Given the description of an element on the screen output the (x, y) to click on. 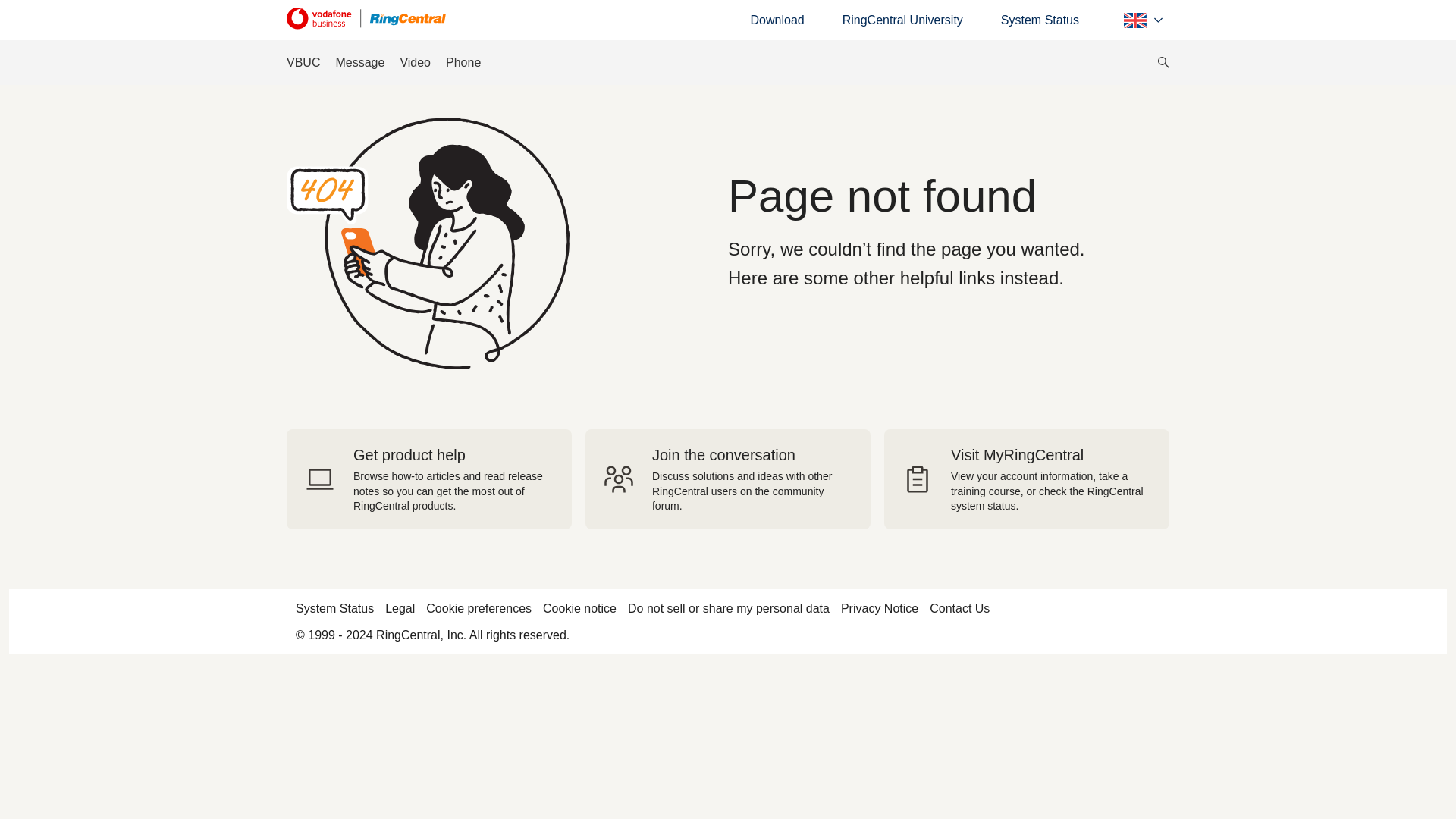
System Status (1039, 19)
Cookie preferences (478, 608)
Message (359, 62)
Cookie preferences (478, 608)
Cookie notice (579, 608)
Legal (399, 608)
RingCentral University (902, 19)
Contact Us (960, 608)
Download (778, 19)
Contact Us (960, 608)
Privacy Notice (879, 608)
Cookie notice (579, 608)
Phone (462, 62)
Legal (399, 608)
System Status (1039, 19)
